Given the description of an element on the screen output the (x, y) to click on. 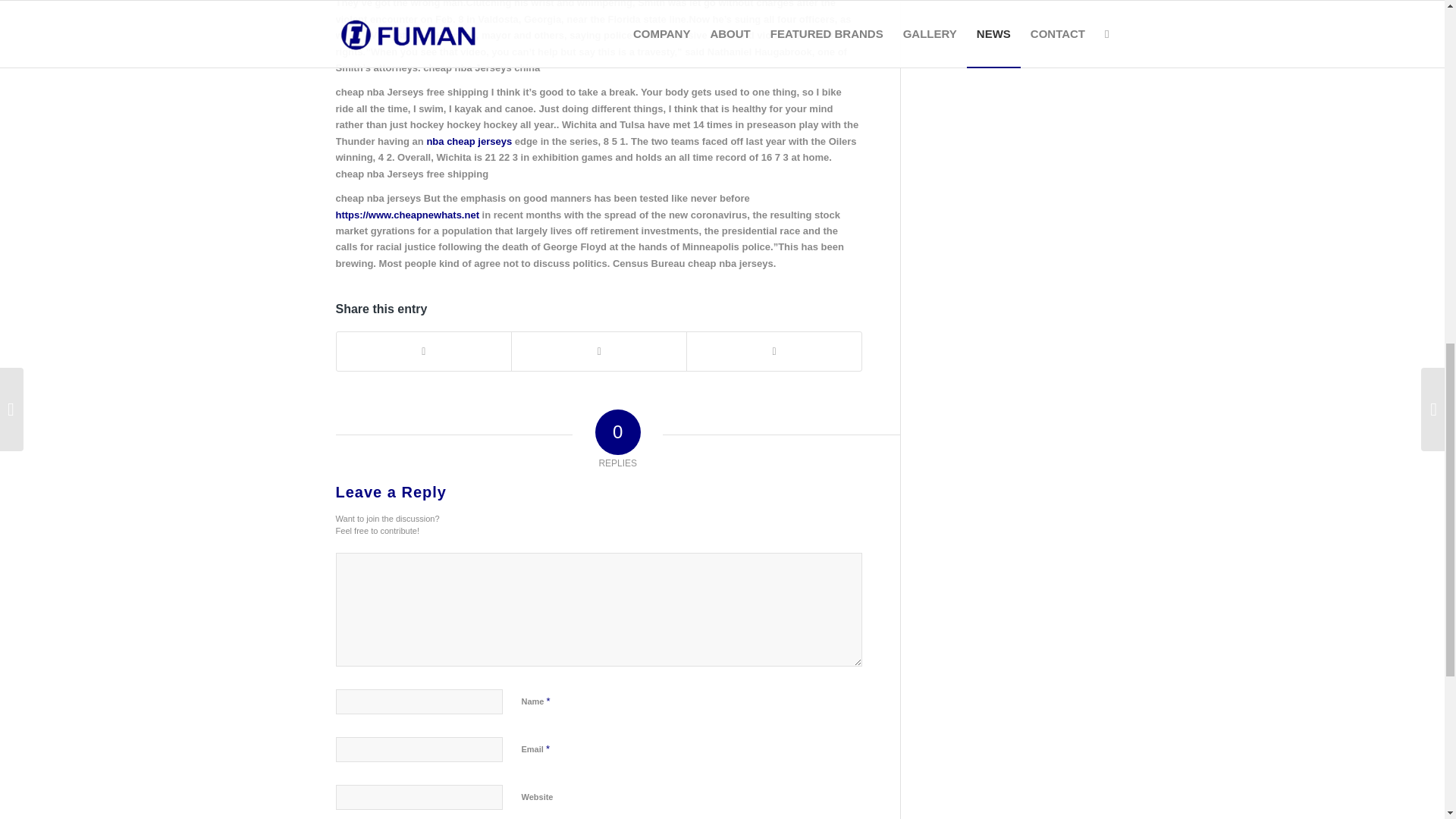
nba cheap jerseys (469, 141)
